Given the description of an element on the screen output the (x, y) to click on. 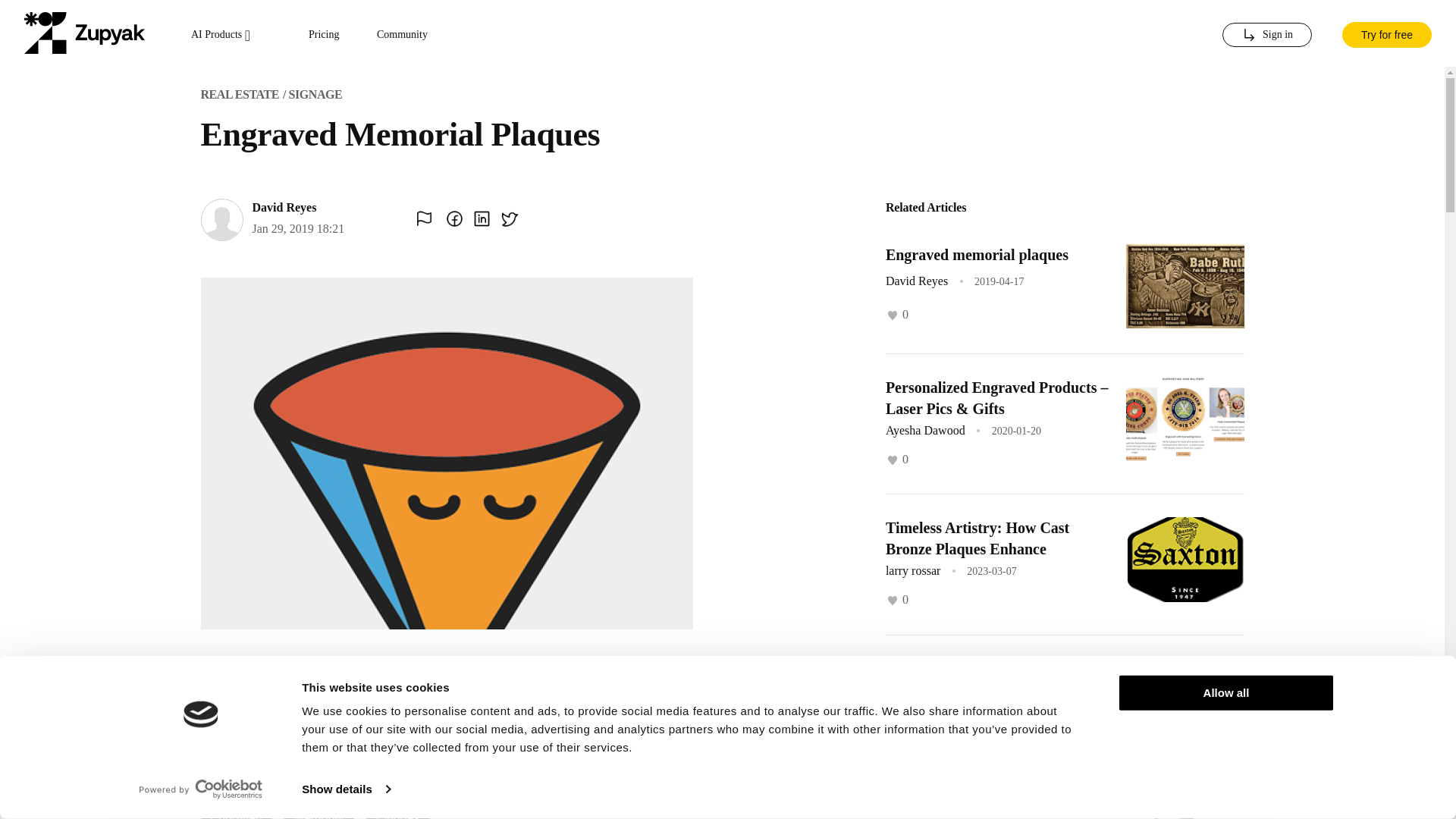
Engraved memorial plaques (976, 254)
Choose Best Place for Classic and Ultimate Range of Trophies (994, 809)
Show details (345, 789)
